Given the description of an element on the screen output the (x, y) to click on. 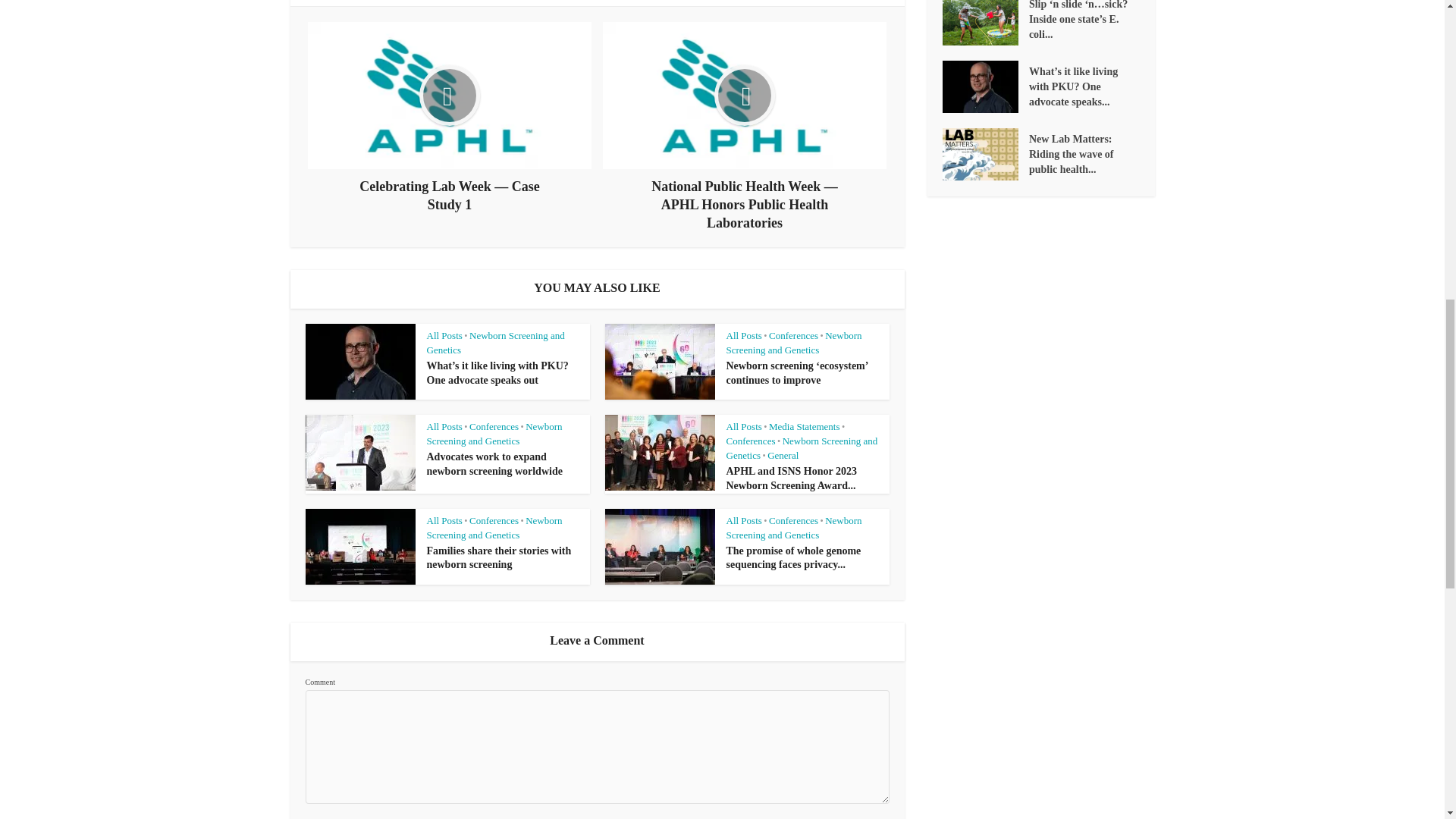
Advocates work to expand newborn screening worldwide (494, 463)
Newborn Screening and Genetics (495, 342)
All Posts (443, 426)
Conferences (493, 426)
APHL and ISNS Honor 2023 Newborn Screening Award Winners (791, 478)
All Posts (443, 335)
All Posts (743, 335)
Families share their stories with newborn screening (498, 557)
Newborn Screening and Genetics (793, 342)
Conferences (793, 335)
